Given the description of an element on the screen output the (x, y) to click on. 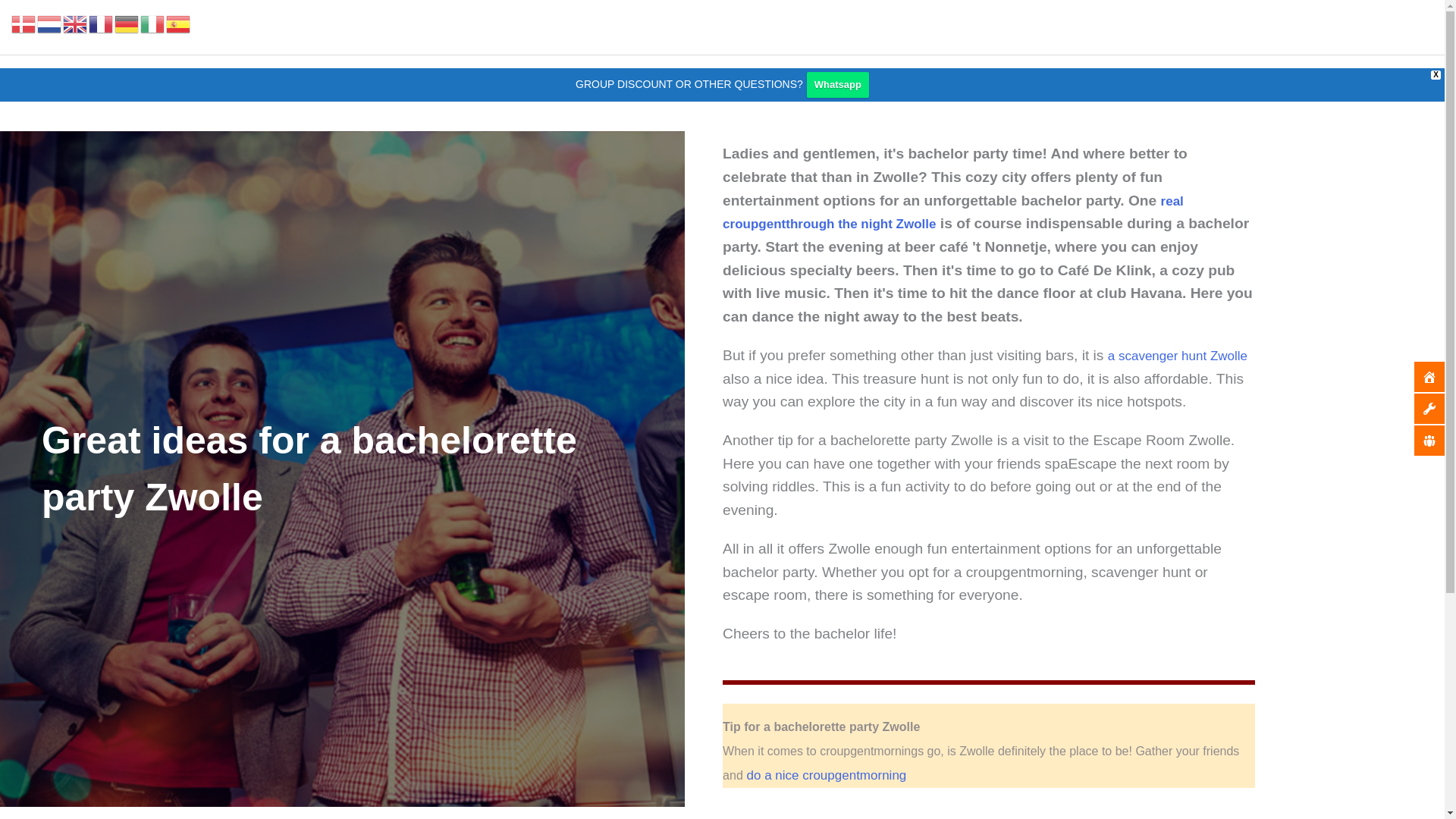
French (101, 22)
Spanish (178, 22)
Whatsapp (837, 84)
Dutch (49, 22)
do a nice croupgentmorning (823, 775)
Italian (152, 22)
German (127, 22)
Danish (24, 22)
English (75, 22)
a scavenger hunt Zwolle (1177, 355)
real croupgentthrough the night Zwolle (952, 212)
